Given the description of an element on the screen output the (x, y) to click on. 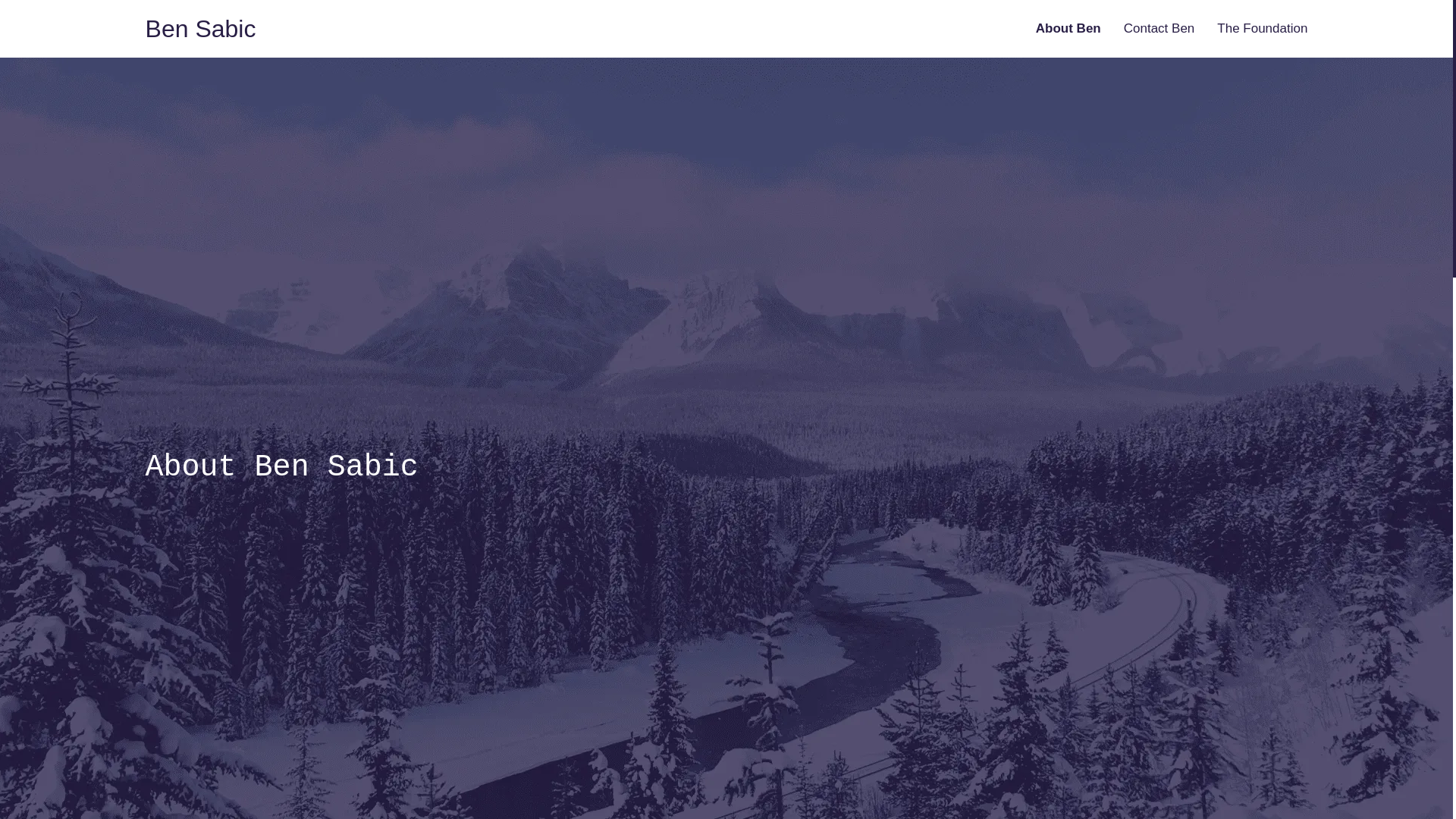
Contact Ben Element type: text (1159, 28)
About Ben Element type: text (1068, 28)
The Foundation Element type: text (1262, 28)
Ben Sabic Element type: text (200, 28)
